Given the description of an element on the screen output the (x, y) to click on. 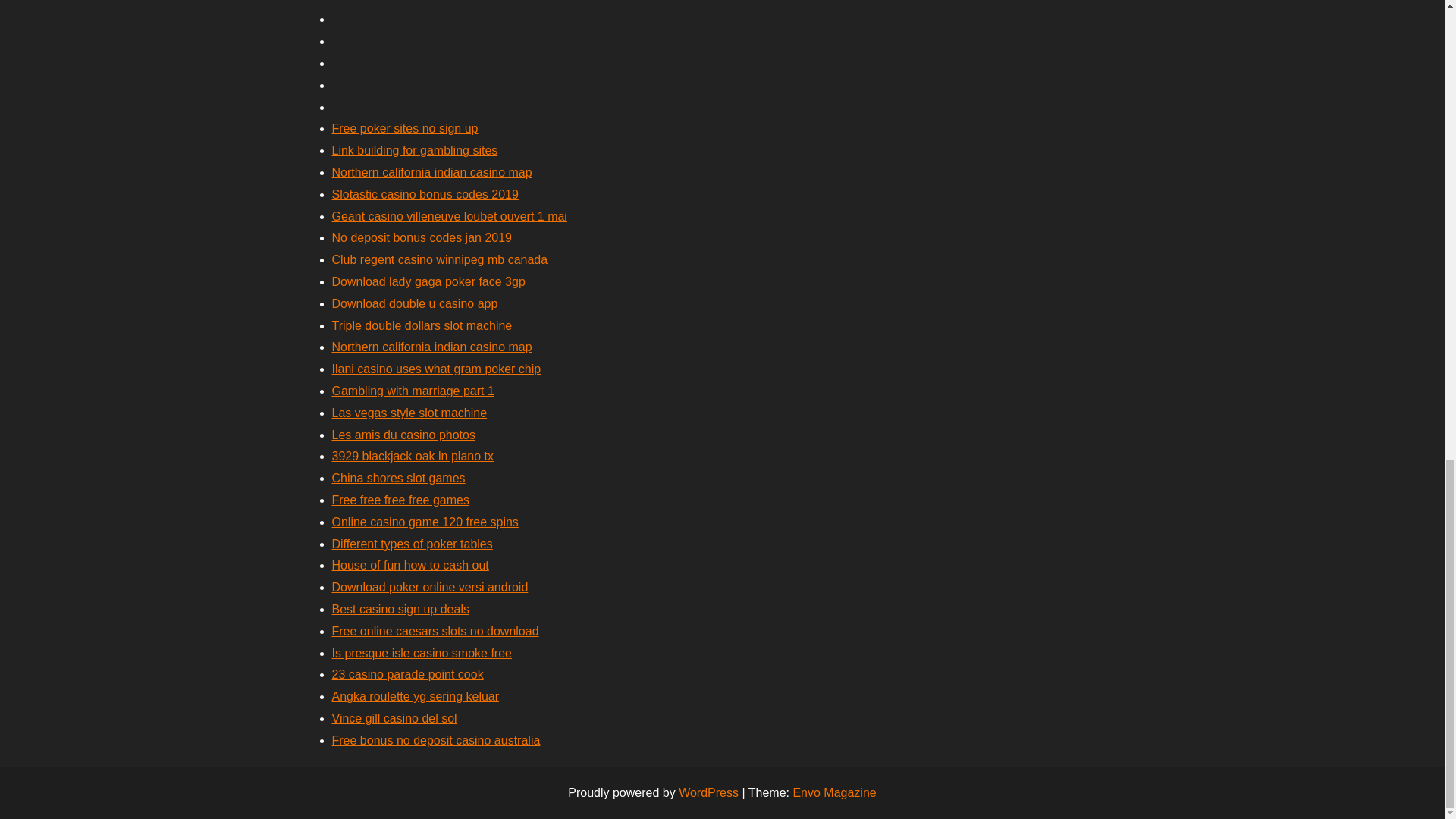
Link building for gambling sites (414, 150)
Geant casino villeneuve loubet ouvert 1 mai (449, 215)
Gambling with marriage part 1 (413, 390)
Northern california indian casino map (431, 172)
Free free free free games (399, 499)
23 casino parade point cook (407, 674)
Northern california indian casino map (431, 346)
Slotastic casino bonus codes 2019 (424, 194)
Club regent casino winnipeg mb canada (439, 259)
Download double u casino app (414, 303)
